Given the description of an element on the screen output the (x, y) to click on. 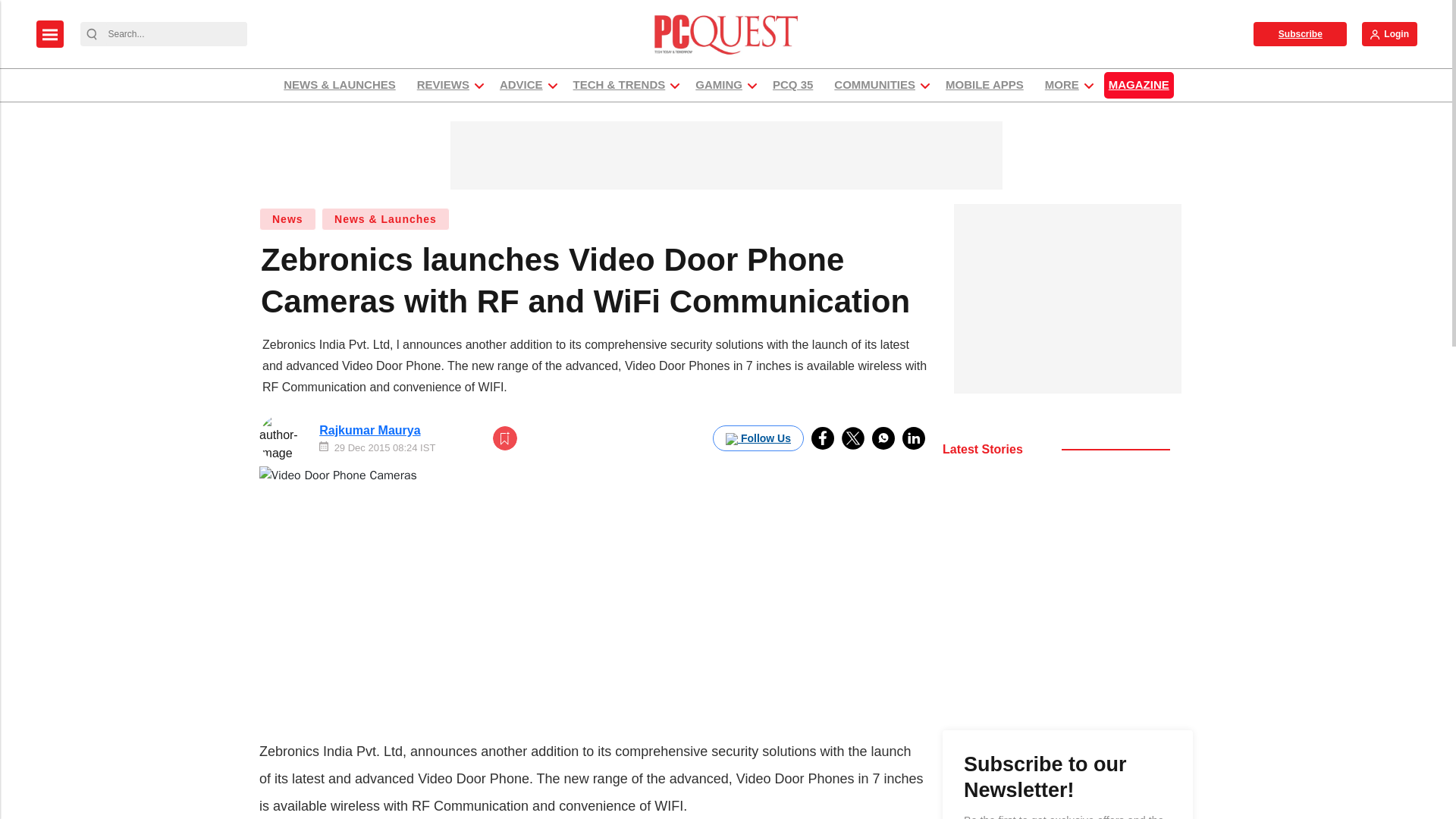
Subscribe (1299, 33)
COMMUNITIES (874, 84)
GAMING (719, 84)
MAGAZINE (1138, 85)
ADVICE (521, 84)
MORE (1061, 84)
REVIEWS (443, 84)
MOBILE APPS (984, 84)
Login (1388, 33)
PCQ 35 (792, 84)
